Given the description of an element on the screen output the (x, y) to click on. 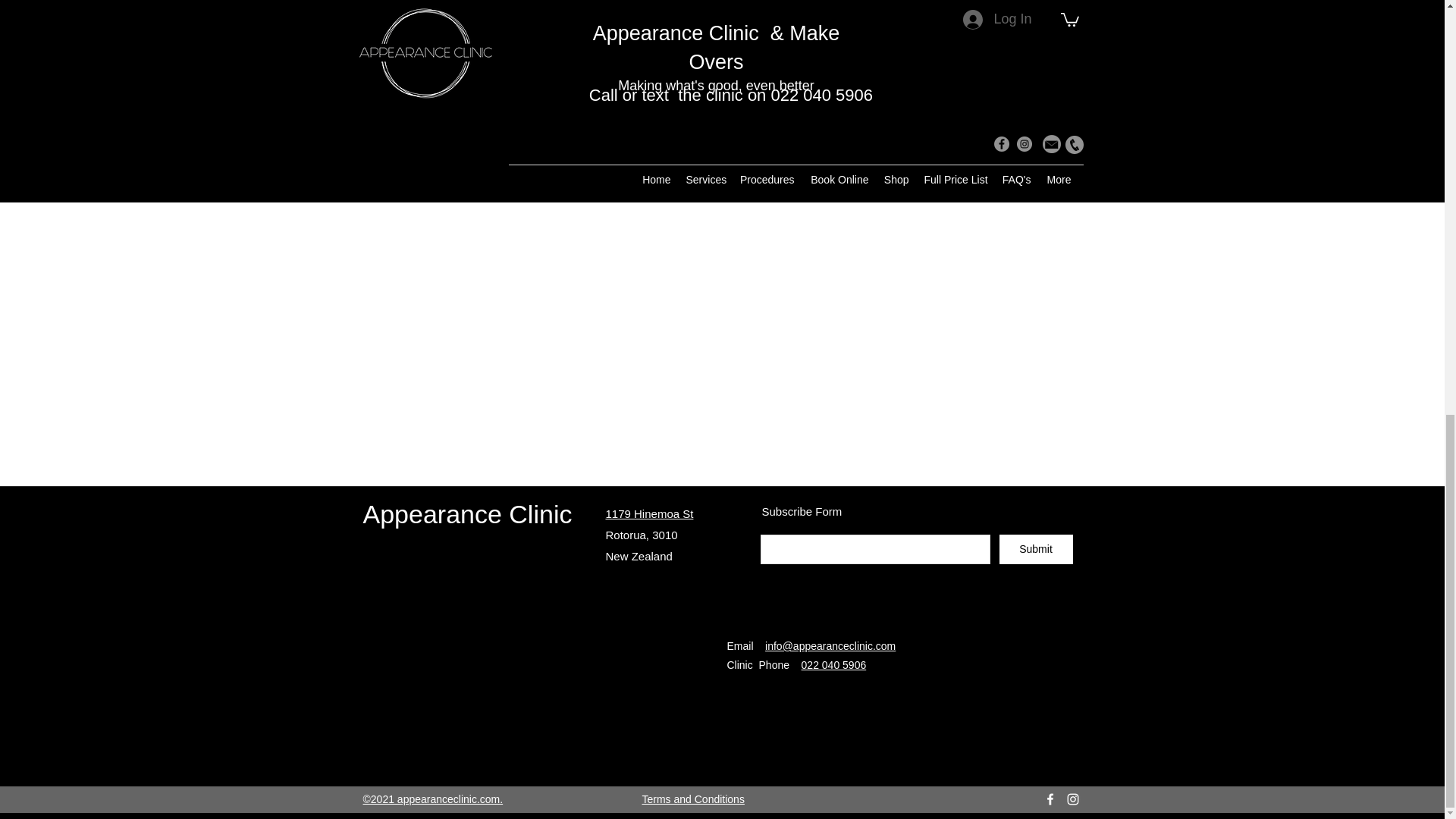
Submit (1035, 549)
1179 Hinemoa St (649, 513)
Appearance Clinic (467, 513)
